Given the description of an element on the screen output the (x, y) to click on. 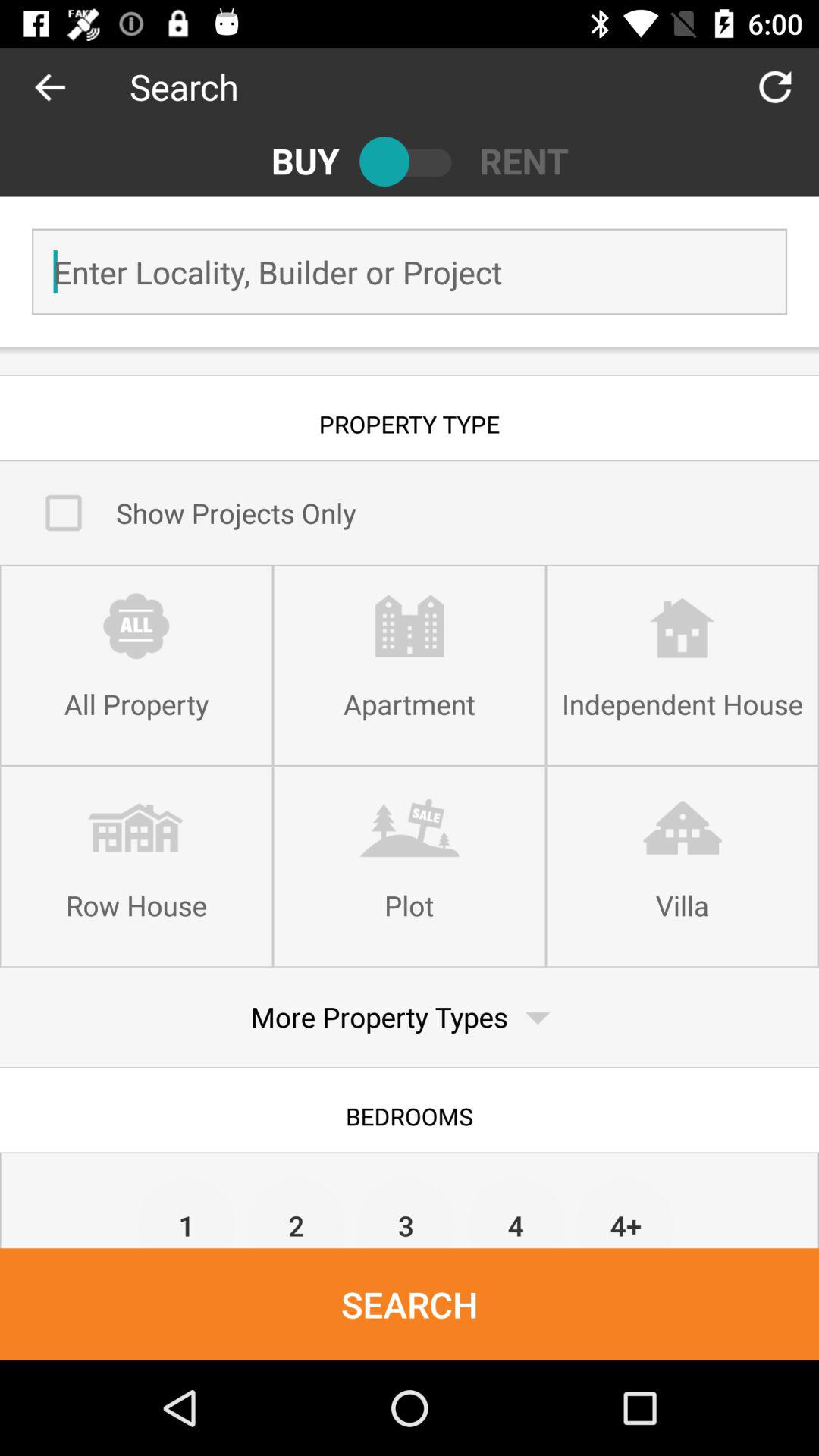
switch viewing option (409, 161)
